Given the description of an element on the screen output the (x, y) to click on. 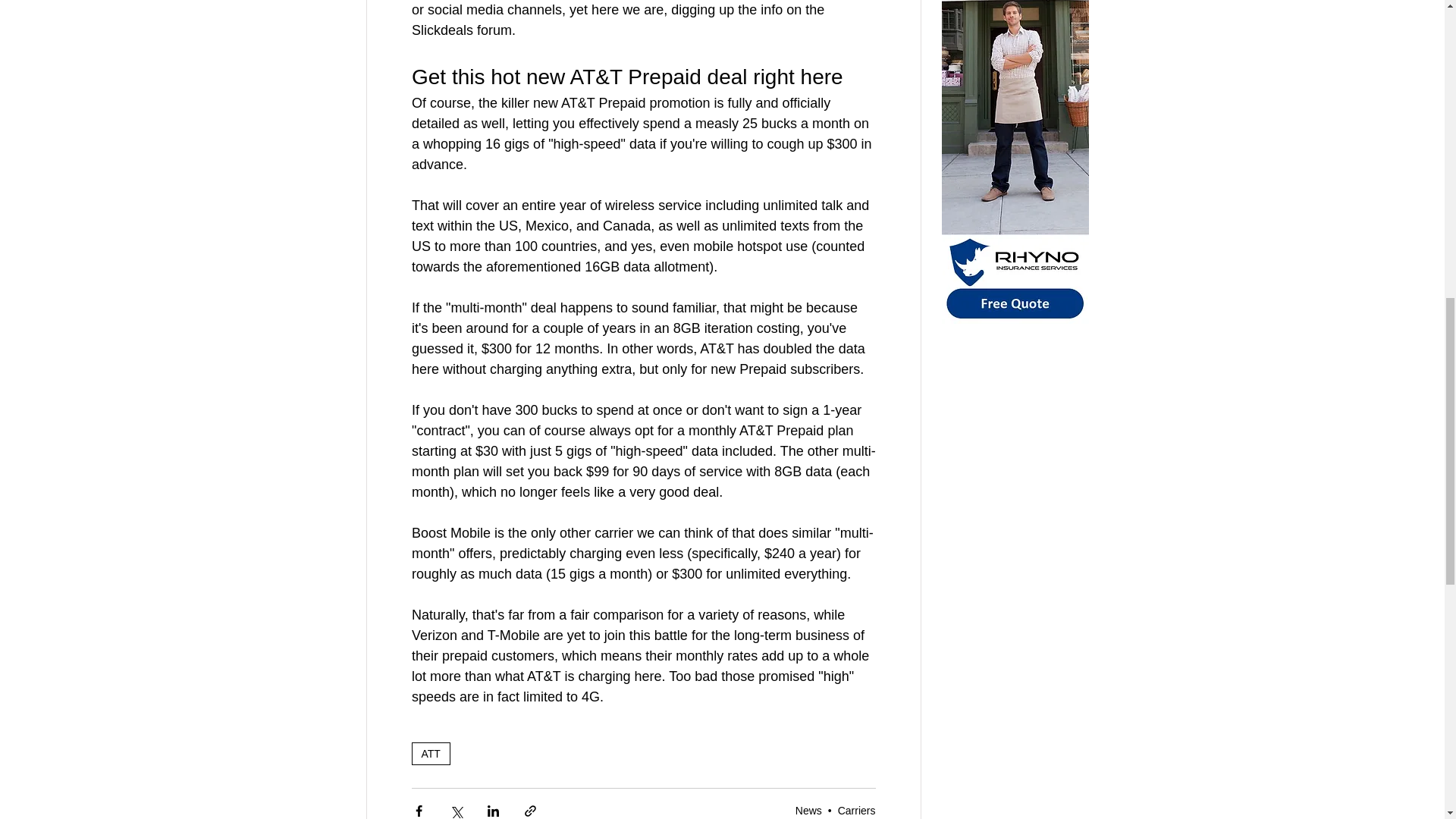
ATT (429, 753)
News (808, 810)
Carriers (857, 810)
